Given the description of an element on the screen output the (x, y) to click on. 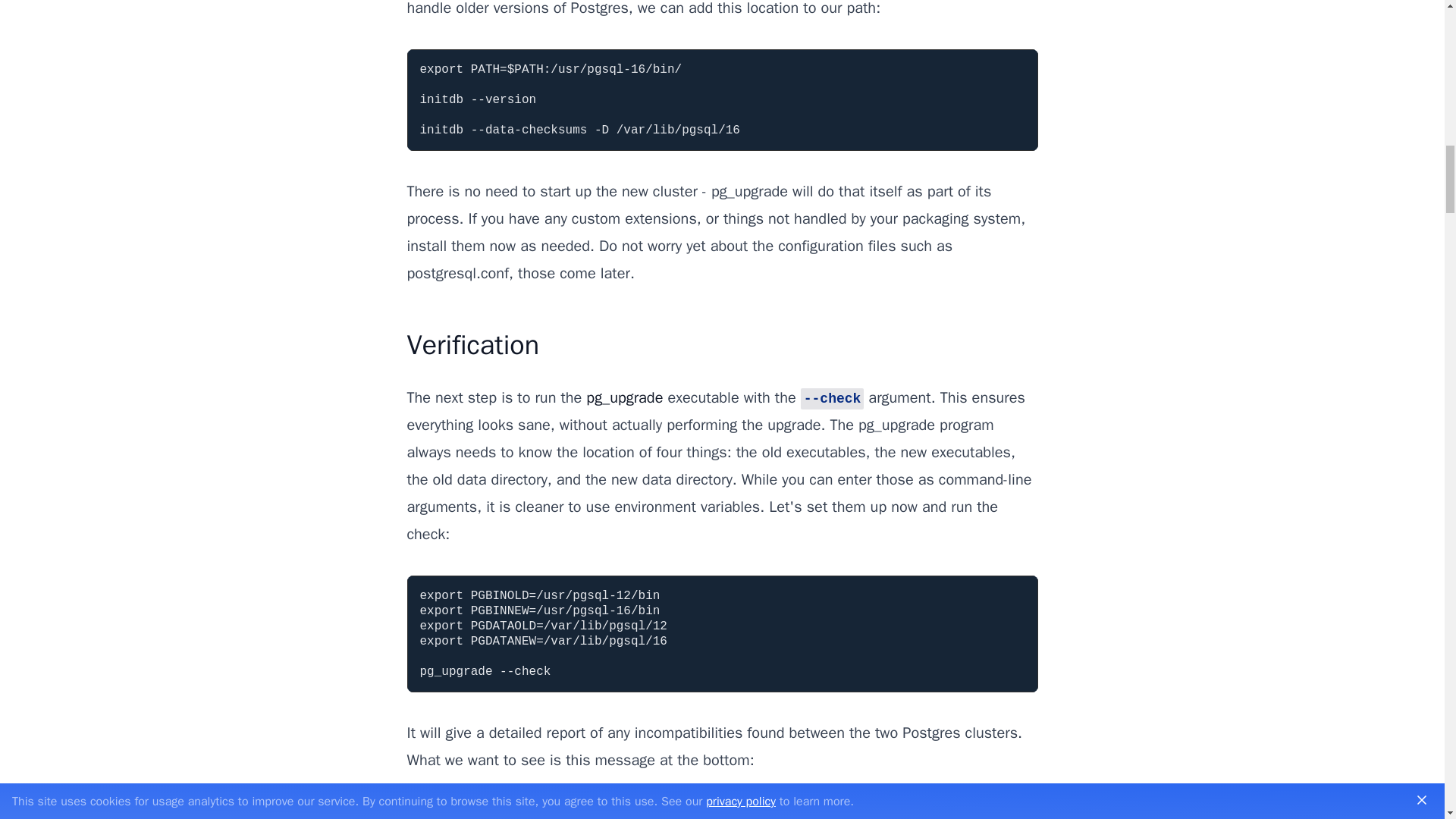
Verification (472, 344)
